Given the description of an element on the screen output the (x, y) to click on. 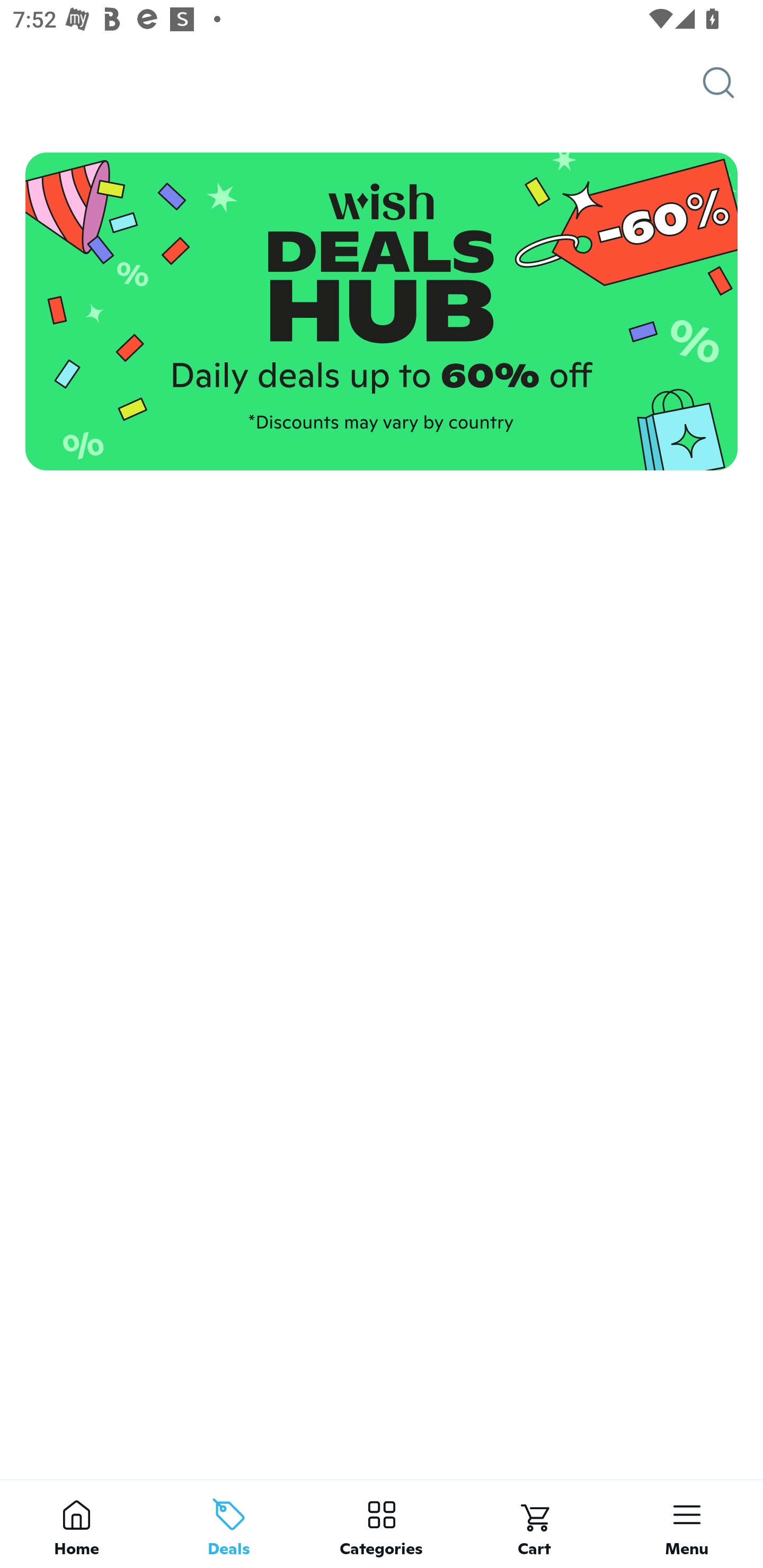
Search (732, 82)
Home (76, 1523)
Deals (228, 1523)
Categories (381, 1523)
Cart (533, 1523)
Menu (686, 1523)
